Given the description of an element on the screen output the (x, y) to click on. 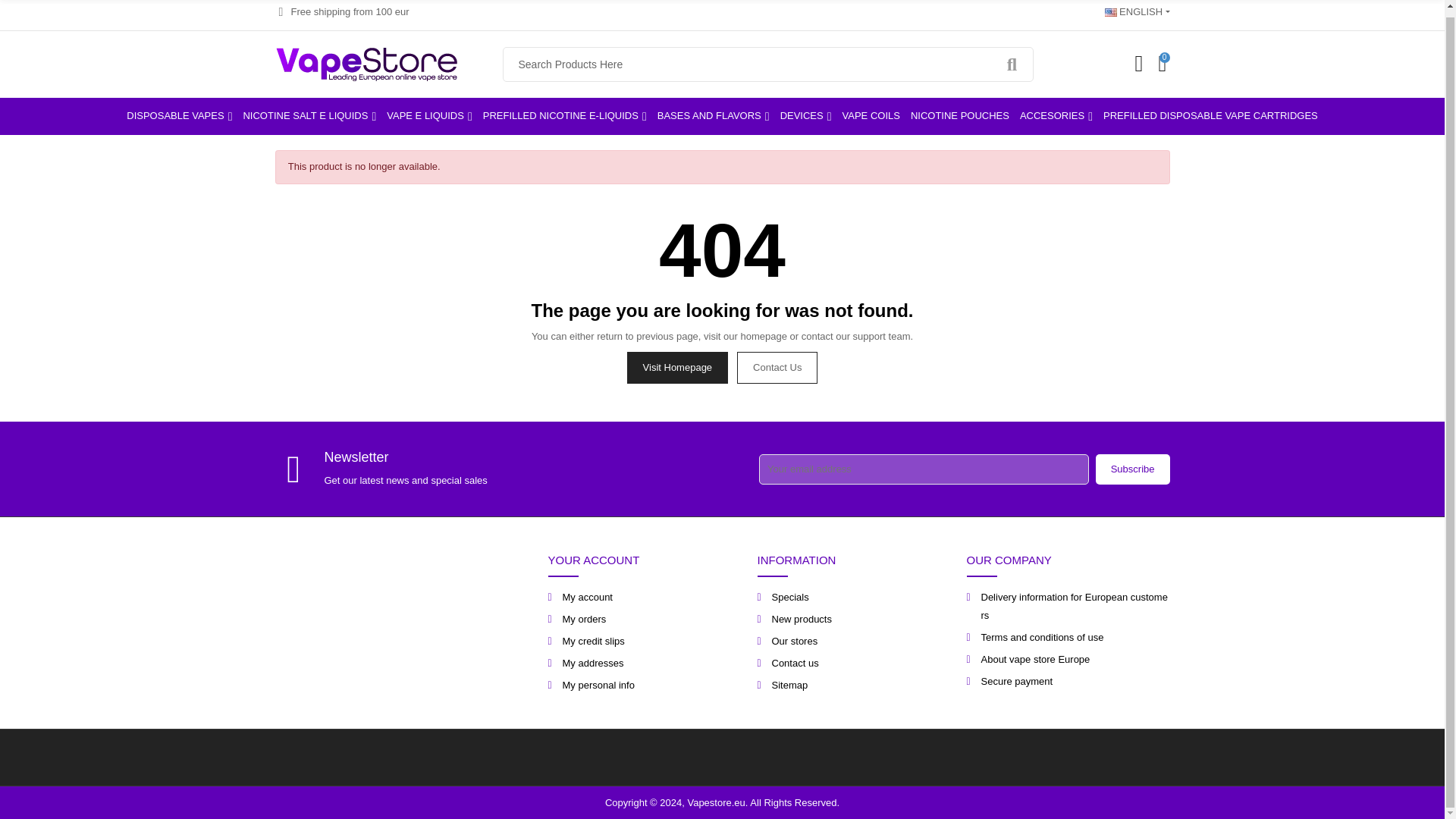
NICOTINE SALT E LIQUIDS (309, 116)
Vape E liquids (429, 116)
Disposable vapes (178, 116)
DEVICES (805, 116)
DISPOSABLE VAPES (178, 116)
VAPE E LIQUIDS (429, 116)
Nicotine salt E liquids (309, 116)
BASES AND FLAVORS (713, 116)
PREFILLED NICOTINE E-LIQUIDS (564, 116)
